Given the description of an element on the screen output the (x, y) to click on. 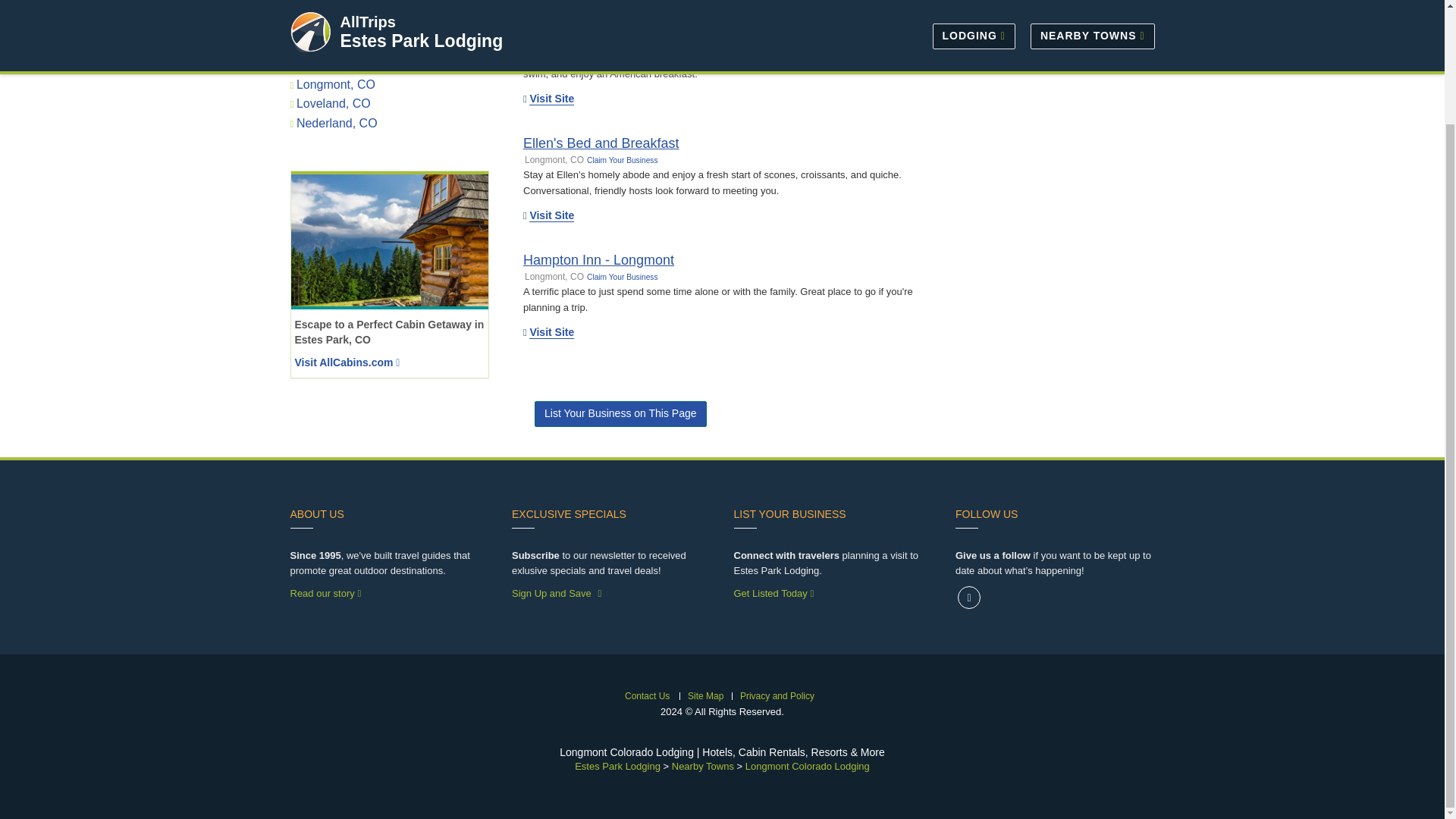
Nearby Towns (702, 766)
Courtyard By Marriott (587, 26)
Longmont Colorado Lodging (807, 766)
Claim Your Business (622, 276)
Visit Site (551, 98)
Hampton Inn - Longmont (598, 259)
Claim Your Business (622, 160)
Ellen's Bed and Breakfast (600, 142)
Estes Park Lodging (618, 766)
Visit Site (551, 215)
Claim Your Business (627, 43)
Visit Site (551, 332)
